Given the description of an element on the screen output the (x, y) to click on. 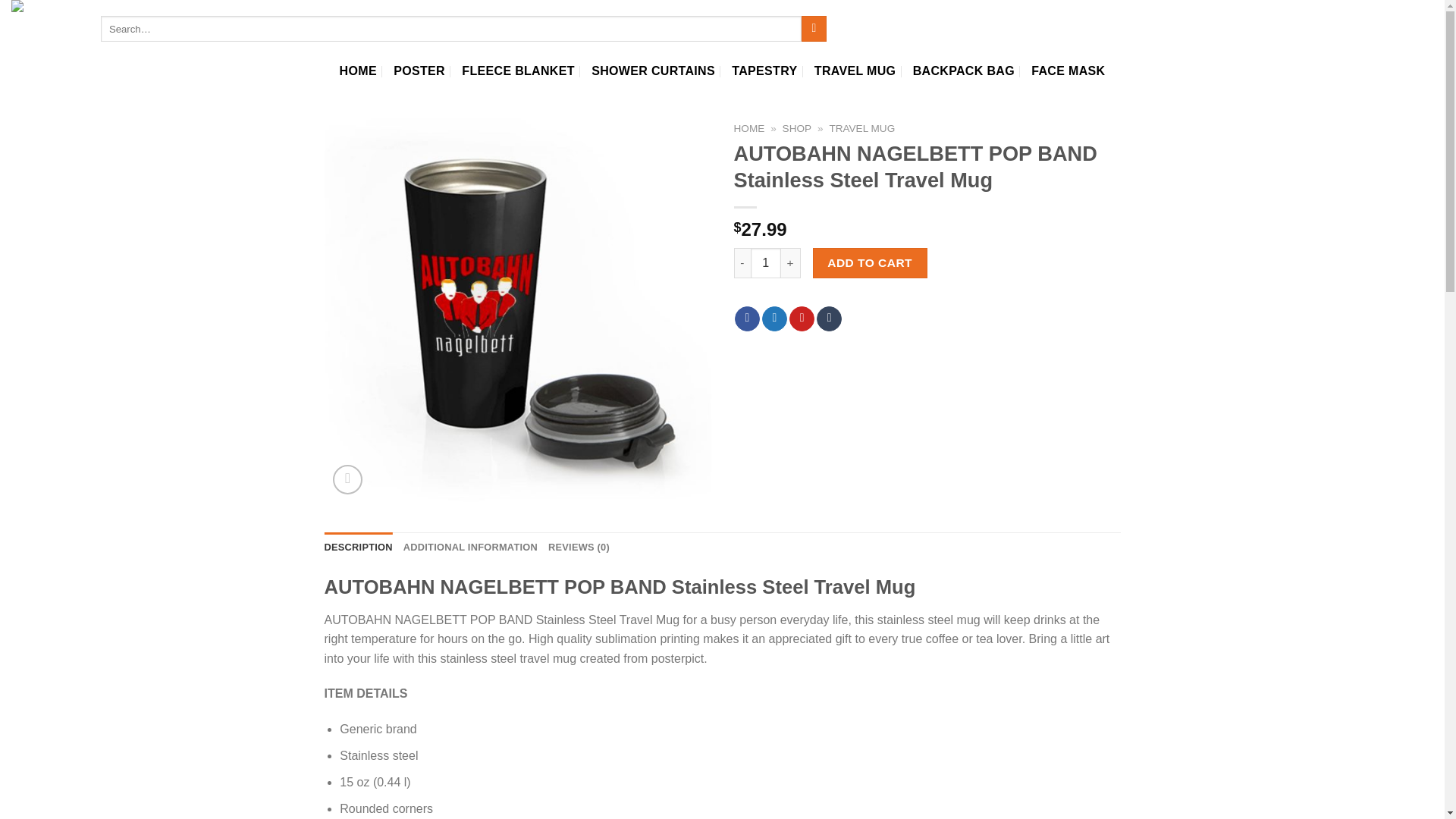
TAPESTRY (764, 71)
Share on Twitter (774, 319)
DESCRIPTION (358, 547)
FLEECE BLANKET (517, 71)
FACE MASK (1067, 71)
BACKPACK BAG (963, 71)
Pin on Pinterest (801, 319)
- (742, 263)
ADDITIONAL INFORMATION (470, 547)
ADD TO CART (869, 263)
TRAVEL MUG (854, 71)
1 (765, 263)
HOME (749, 128)
Share on Tumblr (828, 319)
Zoom (347, 479)
